Given the description of an element on the screen output the (x, y) to click on. 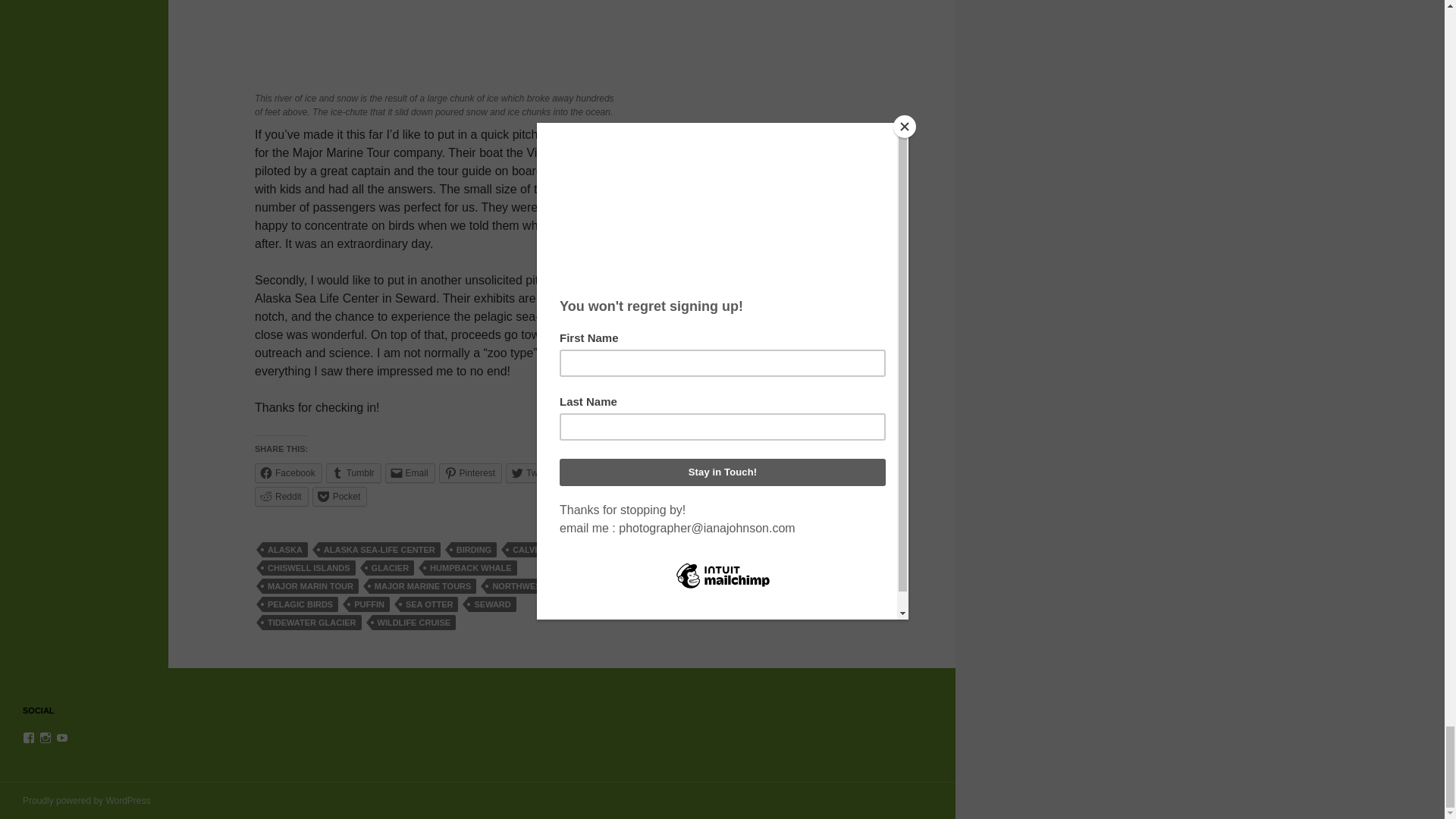
Click to share on Facebook (287, 473)
Facebook (287, 473)
Click to share on Tumblr (353, 473)
Click to share on Twitter (532, 473)
Click to share on Pocket (340, 496)
Click to email this to a friend (410, 473)
Click to share on Reddit (281, 496)
Click to share on Pinterest (470, 473)
